Given the description of an element on the screen output the (x, y) to click on. 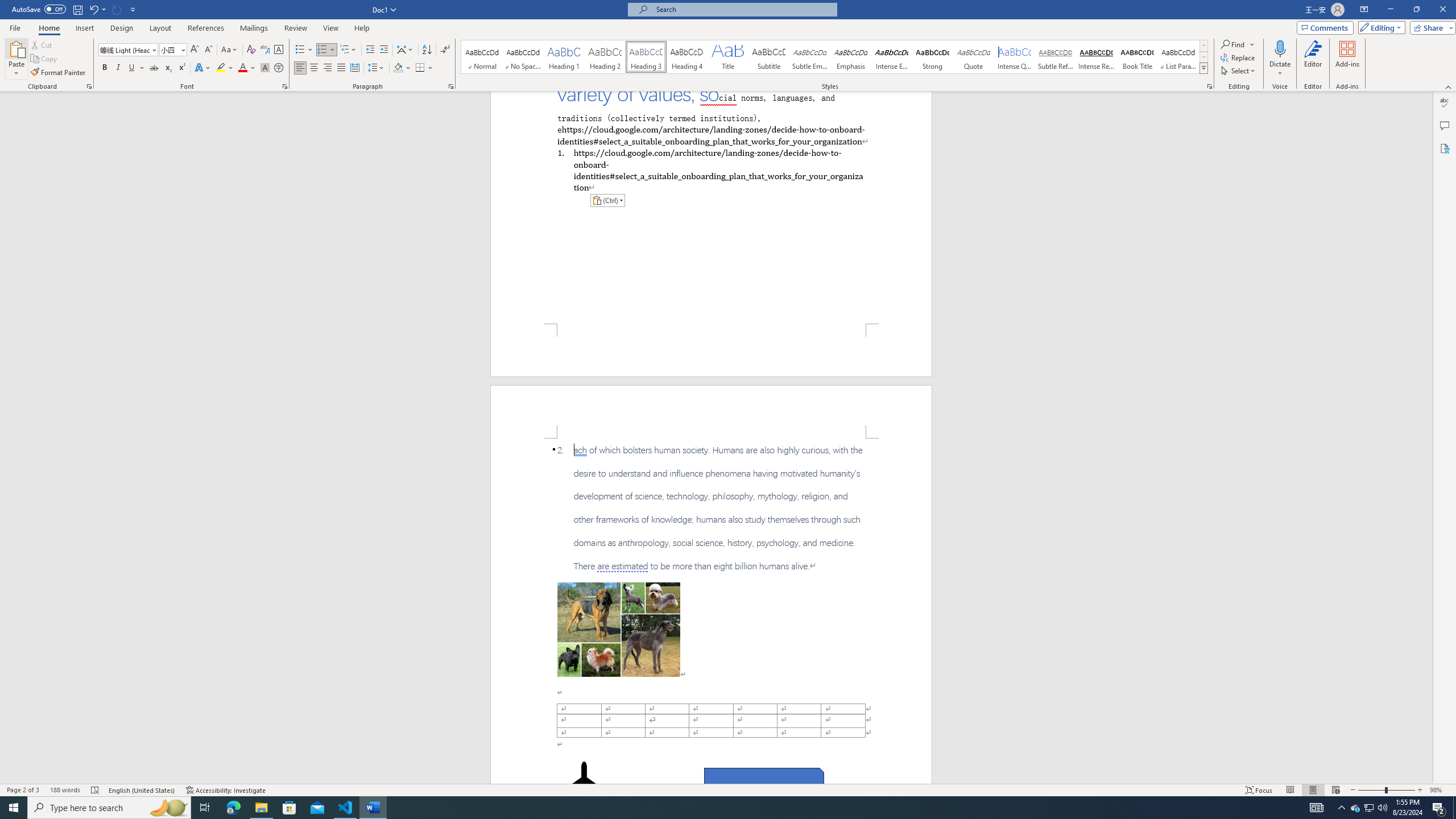
Subscript (167, 67)
Undo Paste (96, 9)
Page Number Page 2 of 3 (22, 790)
Quote (973, 56)
Morphological variation in six dogs (618, 629)
Subtitle (768, 56)
Italic (118, 67)
Language English (United States) (141, 790)
Font Color Blue-Gray, Text 2 (241, 67)
Footer -Section 1- (710, 349)
Editing (1379, 27)
